Given the description of an element on the screen output the (x, y) to click on. 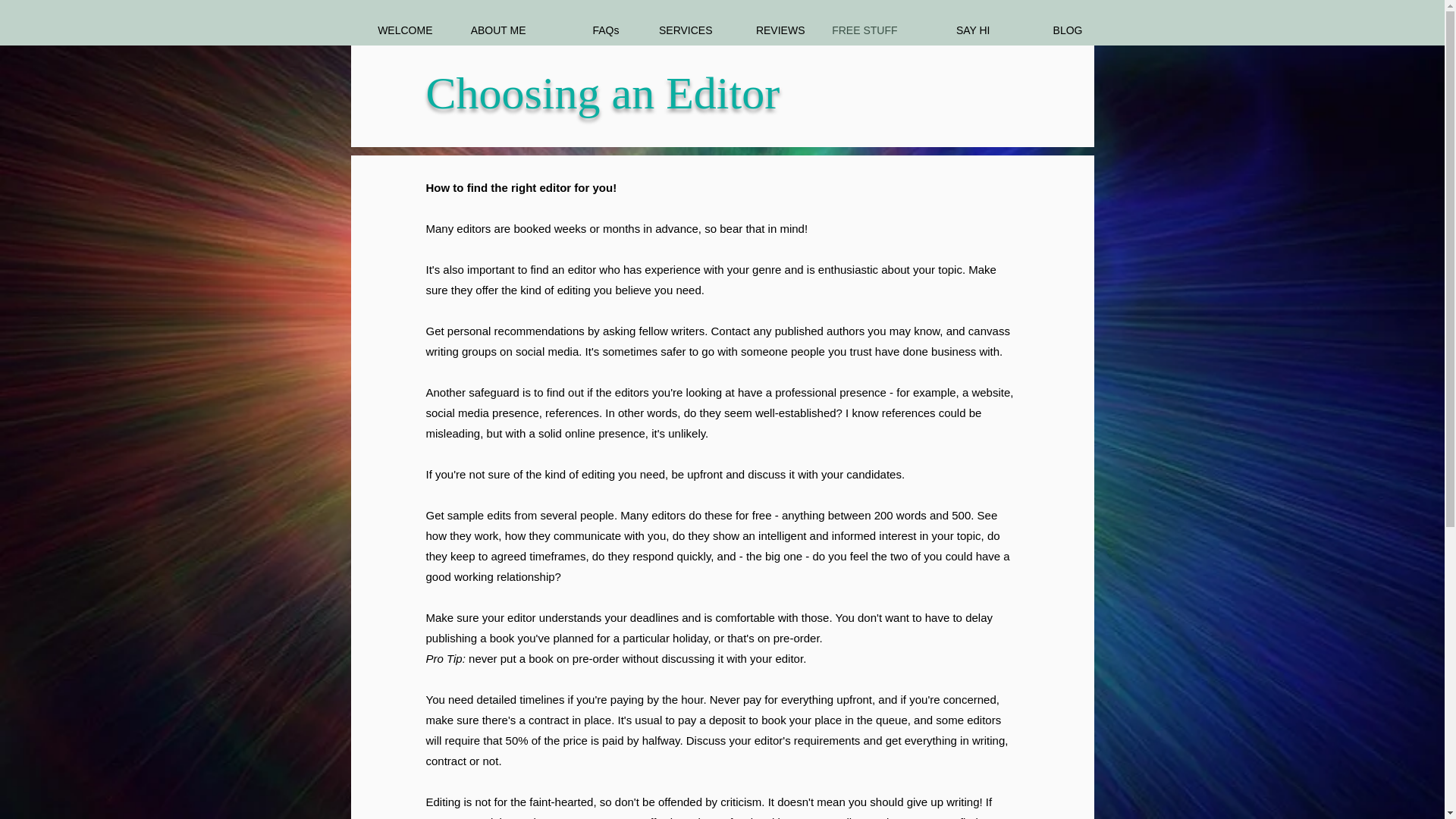
BLOG (1047, 30)
FREE STUFF (861, 30)
ABOUT ME (490, 30)
WELCOME (397, 30)
SAY HI (954, 30)
FAQs (583, 30)
REVIEWS (769, 30)
SERVICES (676, 30)
